Given the description of an element on the screen output the (x, y) to click on. 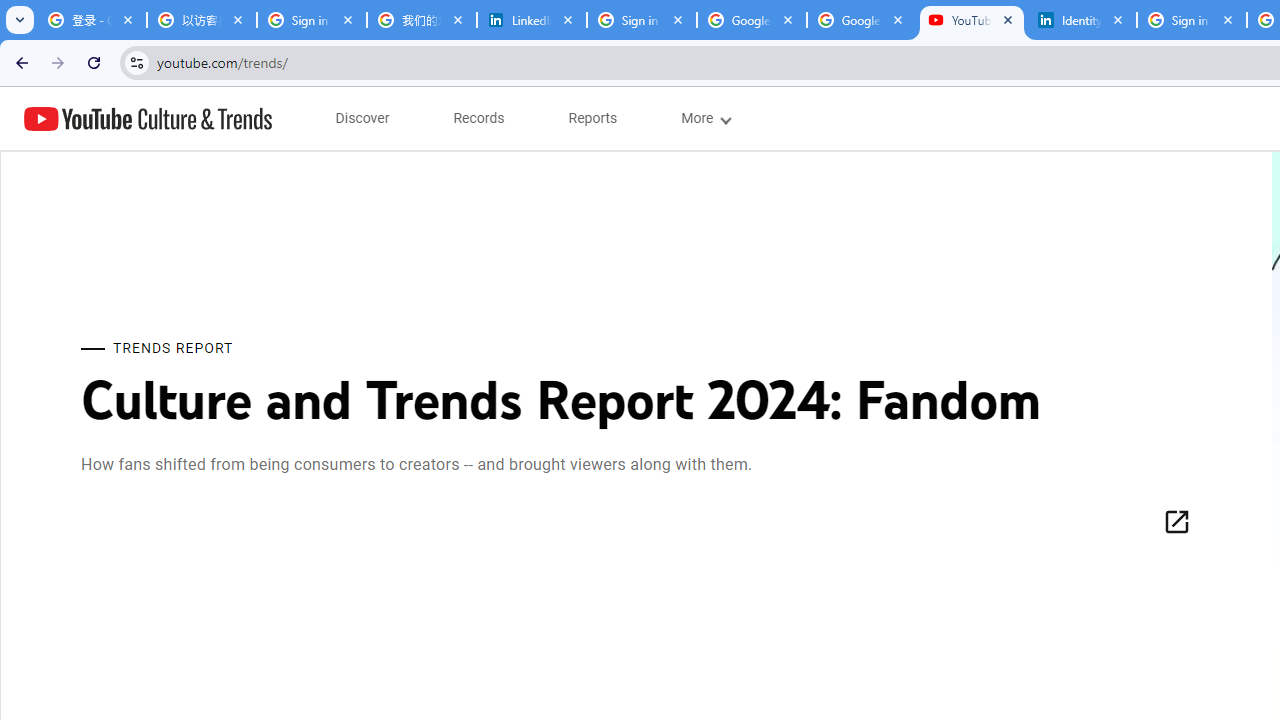
subnav-More menupopup (704, 118)
subnav-Discover menupopup (362, 118)
subnav-Reports menupopup (593, 118)
YouTube Culture & Trends (147, 118)
LinkedIn Privacy Policy (532, 20)
Sign in - Google Accounts (642, 20)
subnav-Discover menupopup (362, 118)
subnav-Reports menupopup (593, 118)
